Given the description of an element on the screen output the (x, y) to click on. 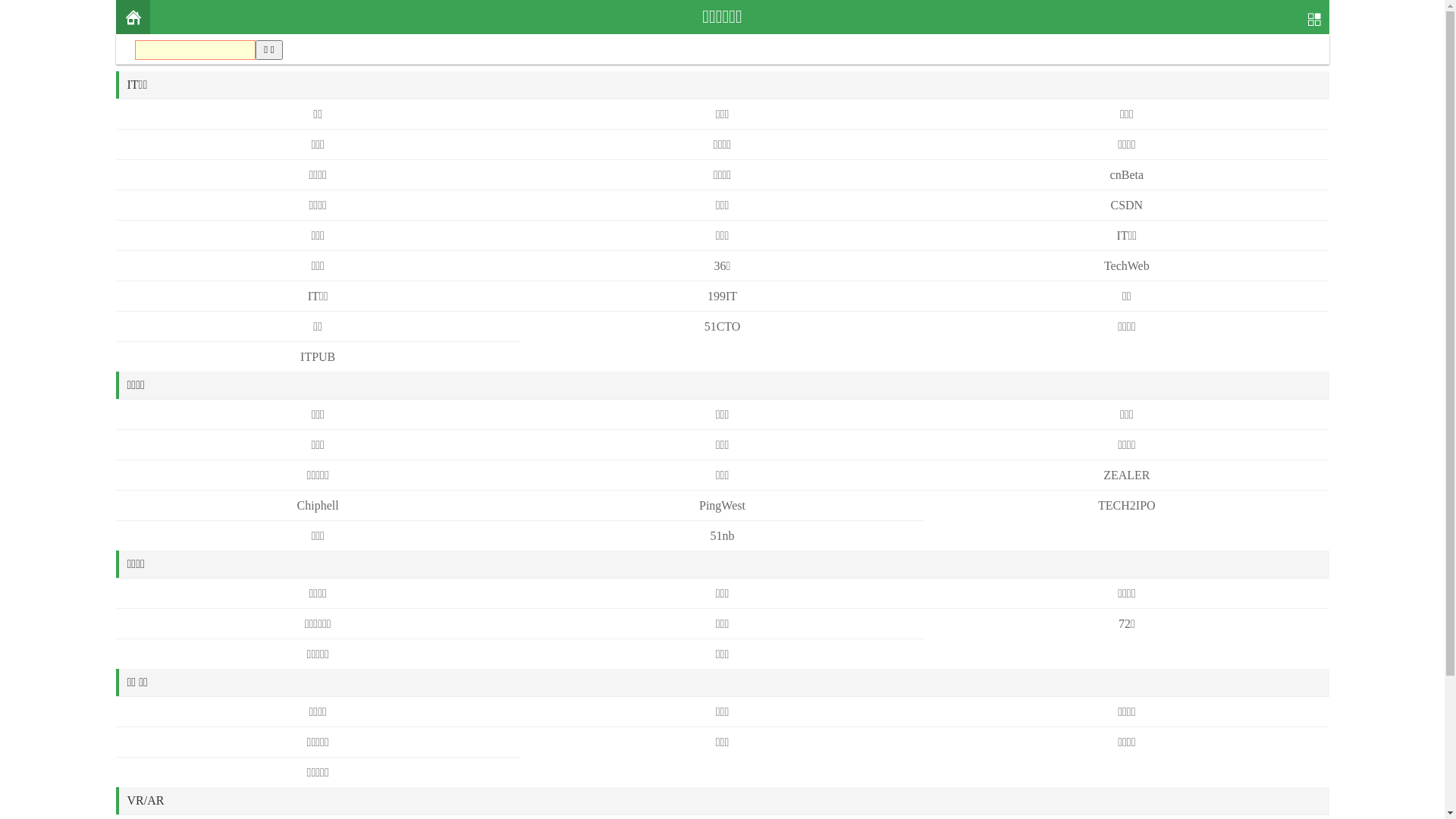
cnBeta Element type: text (1126, 174)
Chiphell Element type: text (317, 504)
CSDN Element type: text (1126, 204)
PingWest Element type: text (722, 504)
TechWeb Element type: text (1126, 265)
51nb Element type: text (721, 535)
199IT Element type: text (722, 295)
ITPUB Element type: text (317, 356)
TECH2IPO Element type: text (1126, 504)
51CTO Element type: text (722, 326)
ZEALER Element type: text (1126, 474)
